Given the description of an element on the screen output the (x, y) to click on. 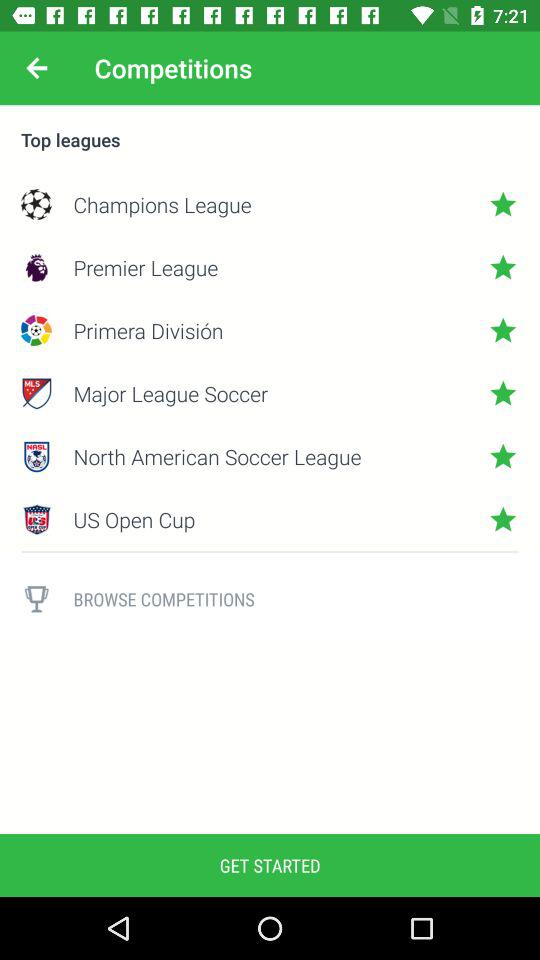
choose the item below the north american soccer item (269, 519)
